Given the description of an element on the screen output the (x, y) to click on. 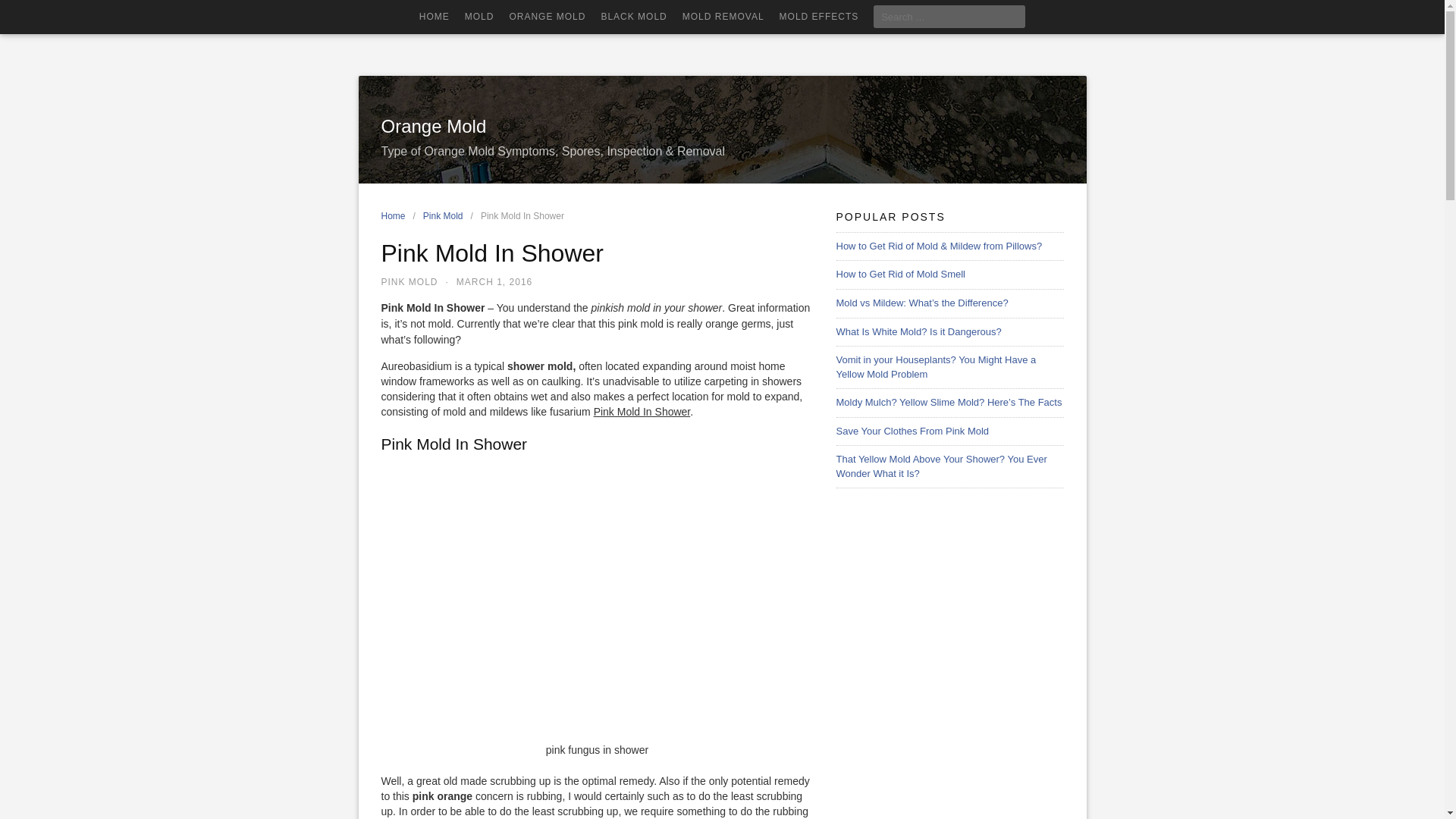
Pink Mold (446, 215)
Orange Mold (433, 126)
Home (396, 215)
PINK MOLD (409, 281)
What Is White Mold? Is it Dangerous? (918, 331)
HOME (434, 17)
How to Get Rid of Mold Smell (900, 274)
MOLD (479, 17)
ORANGE MOLD (546, 17)
Save Your Clothes From Pink Mold (911, 430)
